Given the description of an element on the screen output the (x, y) to click on. 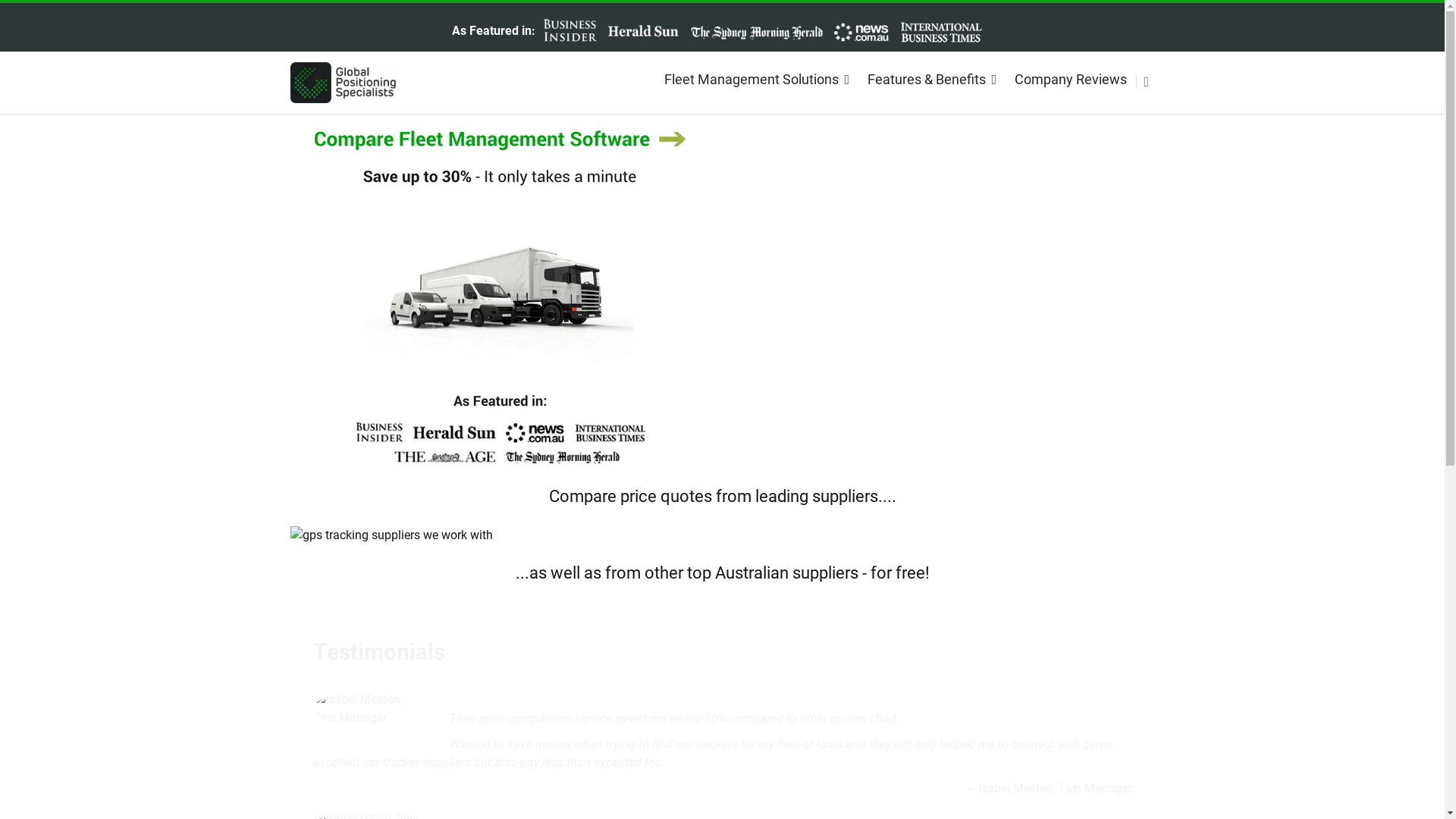
Fleet Management Solutions Element type: text (757, 74)
Company Reviews Element type: text (1070, 74)
Features & Benefits Element type: text (932, 74)
gps-tracking-suppliers-we-work-with Element type: hover (390, 535)
